Given the description of an element on the screen output the (x, y) to click on. 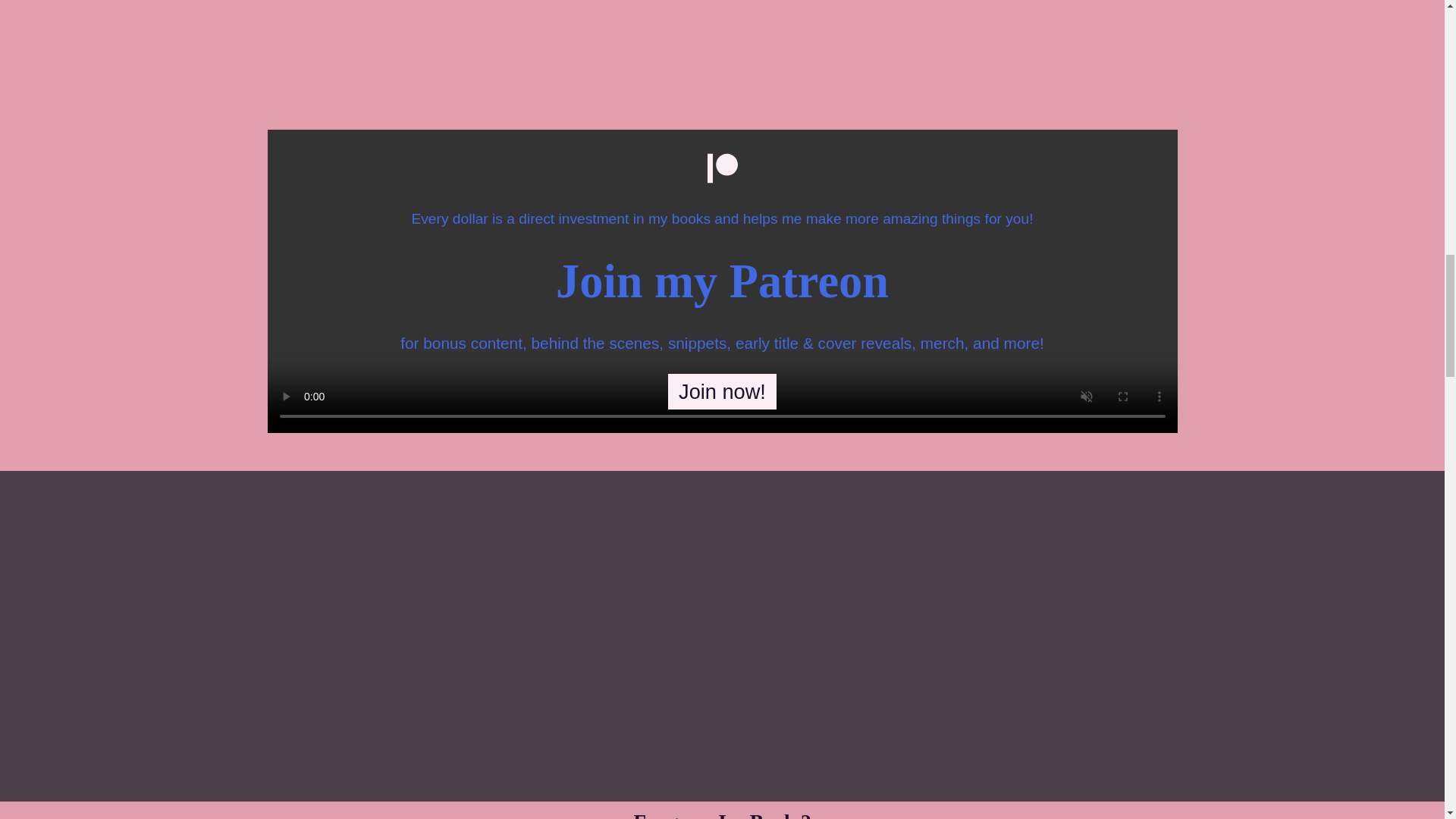
Join my Patreon (722, 280)
Join now! (722, 391)
